Given the description of an element on the screen output the (x, y) to click on. 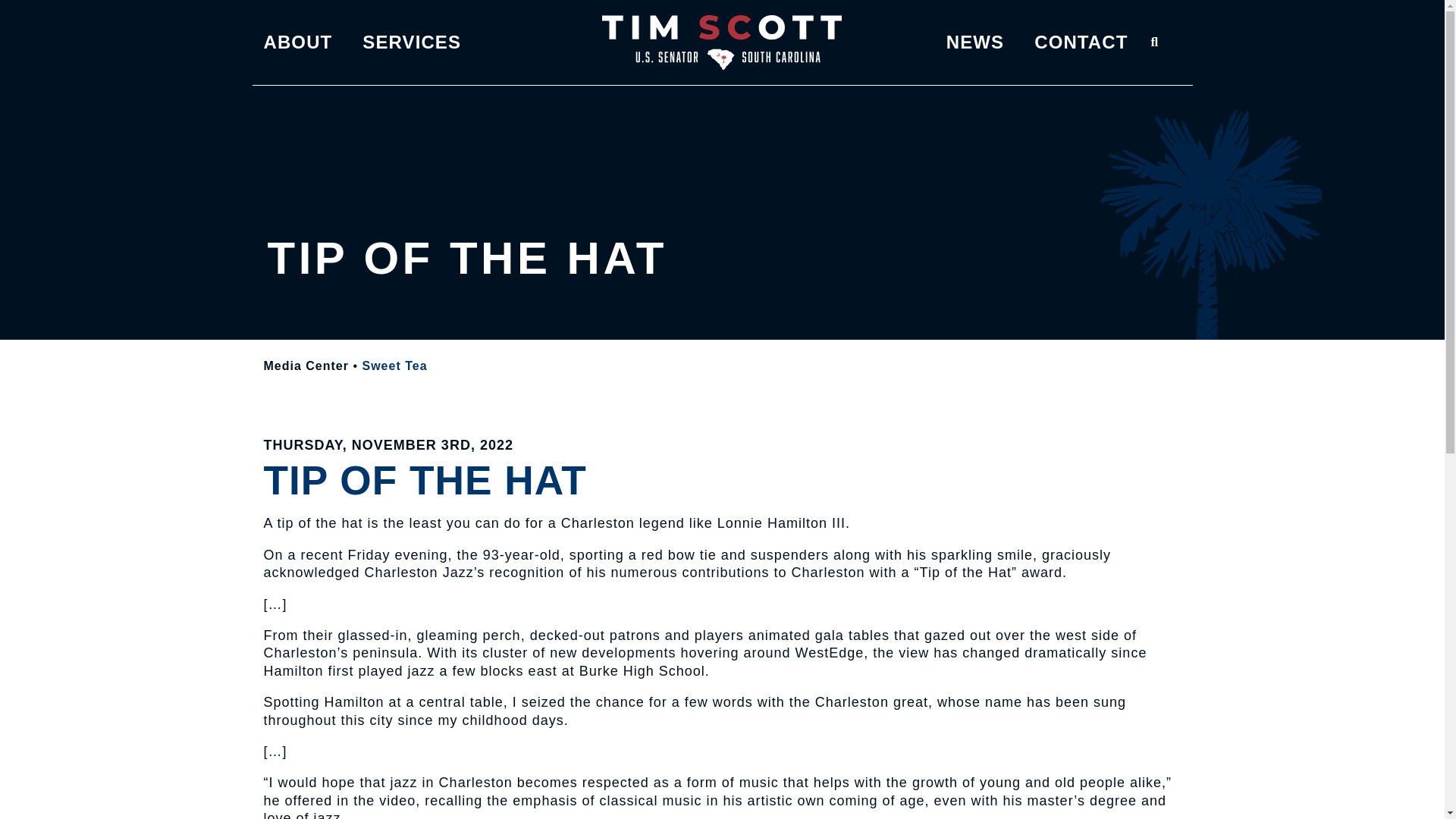
CONTACT (1079, 41)
SERVICES (411, 41)
NEWS (975, 41)
ABOUT (298, 41)
